Given the description of an element on the screen output the (x, y) to click on. 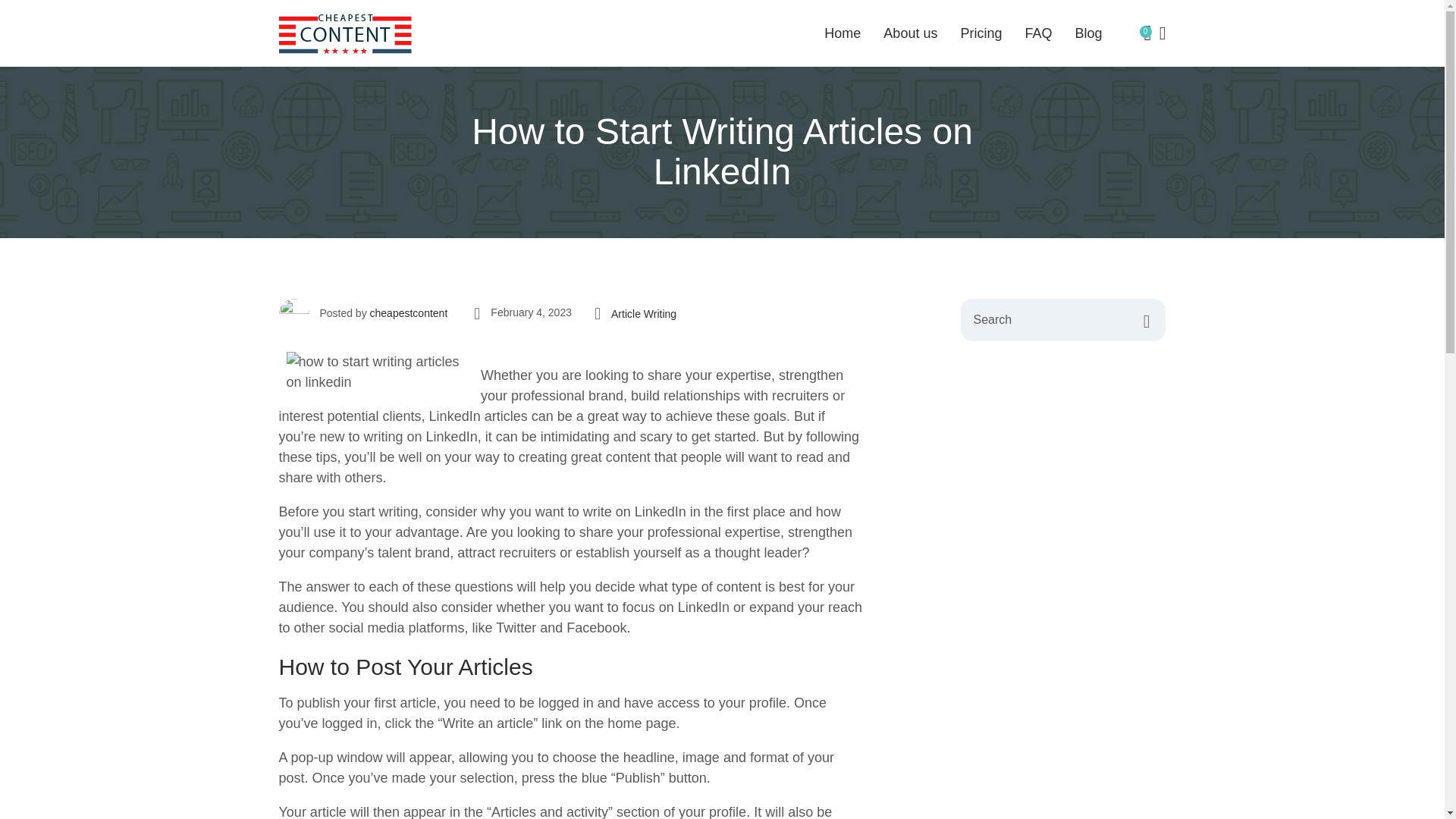
cheapestcontent (408, 313)
Blog (1088, 33)
FAQ (1038, 33)
Article Writing (644, 314)
cheapestcontent (408, 313)
Pricing (980, 33)
About us (910, 33)
Home (842, 33)
